Given the description of an element on the screen output the (x, y) to click on. 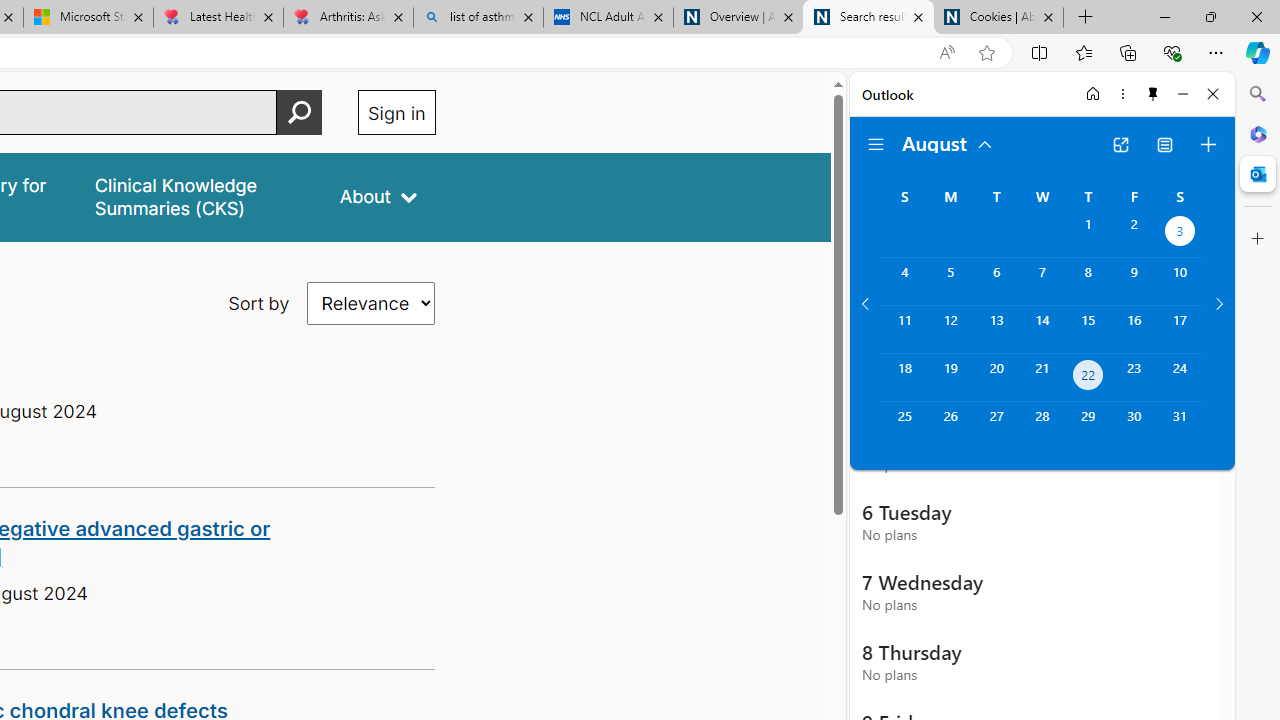
Wednesday, August 7, 2024.  (1042, 281)
Saturday, August 10, 2024.  (1180, 281)
Friday, August 16, 2024.  (1134, 329)
Thursday, August 22, 2024. Today.  (1088, 377)
August (948, 141)
About (378, 196)
Create event (1208, 144)
false (198, 196)
Cookies | About | NICE (998, 17)
Friday, August 2, 2024.  (1134, 233)
Thursday, August 1, 2024.  (1088, 233)
